Given the description of an element on the screen output the (x, y) to click on. 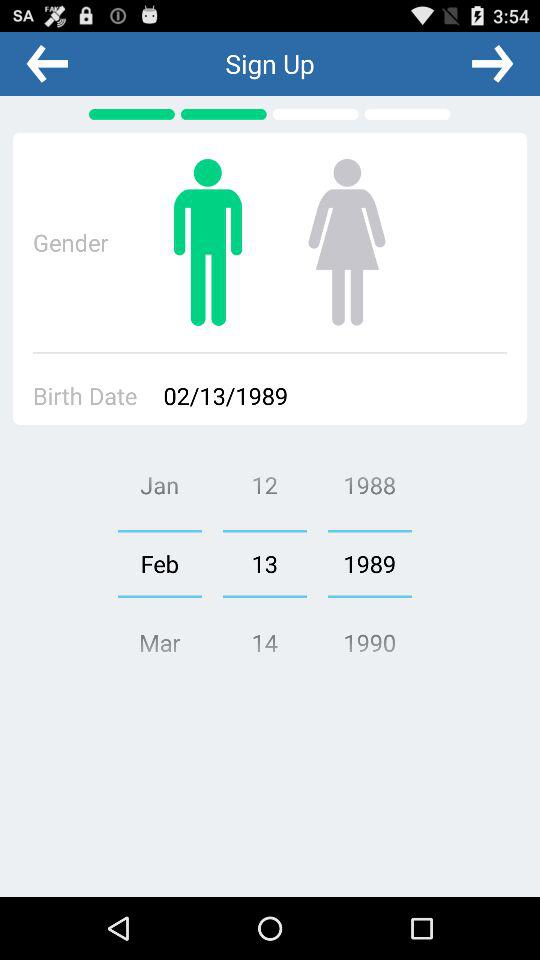
jump until feb (159, 563)
